Given the description of an element on the screen output the (x, y) to click on. 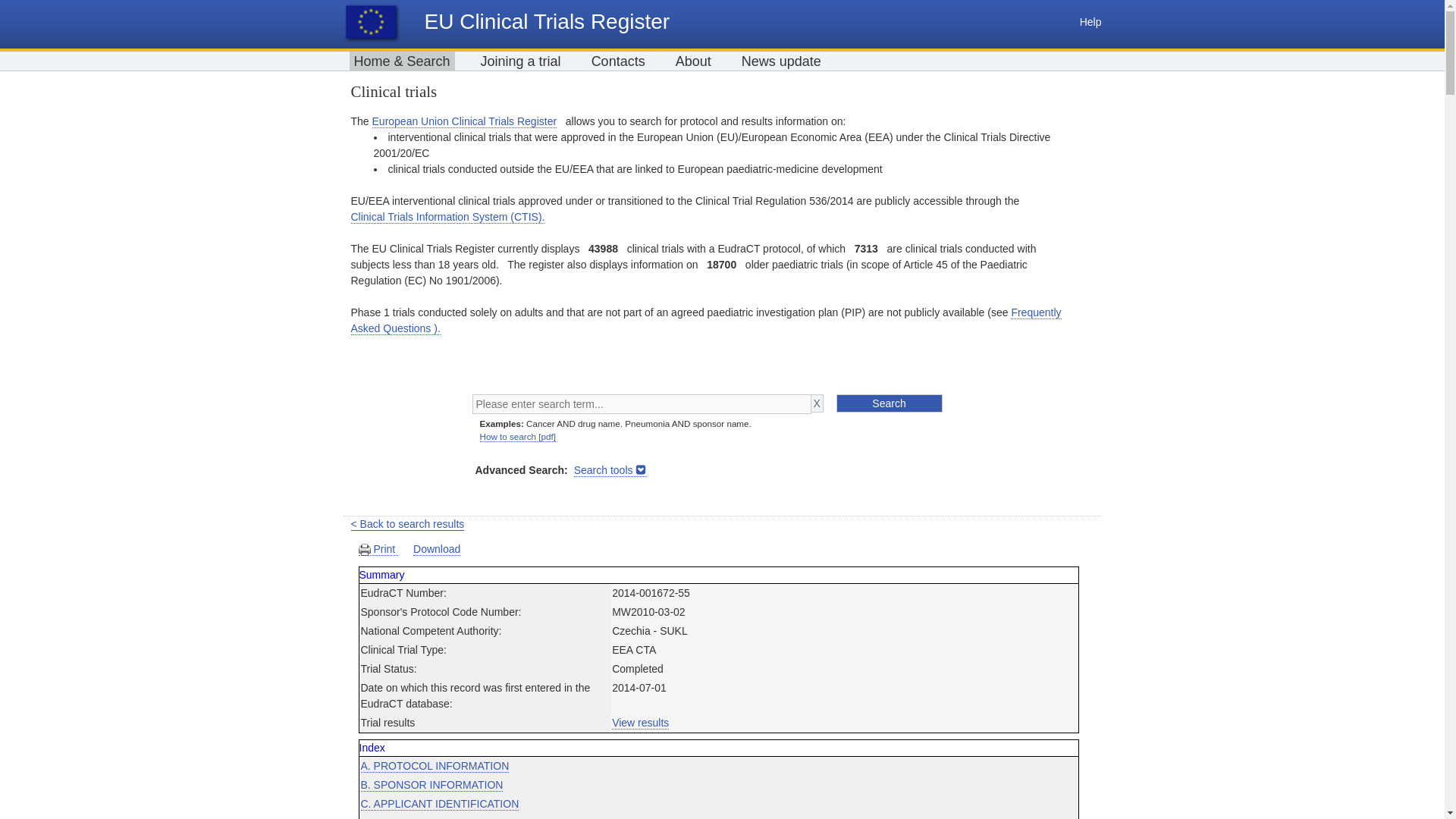
Joining a trial (521, 61)
Search (888, 402)
Help (1091, 21)
D. IMP IDENTIFICATION (420, 817)
News update (780, 61)
B. SPONSOR INFORMATION (432, 784)
European Union Clinical Trials Register (464, 121)
Contacts (617, 61)
C. APPLICANT IDENTIFICATION (440, 803)
About (693, 61)
